Given the description of an element on the screen output the (x, y) to click on. 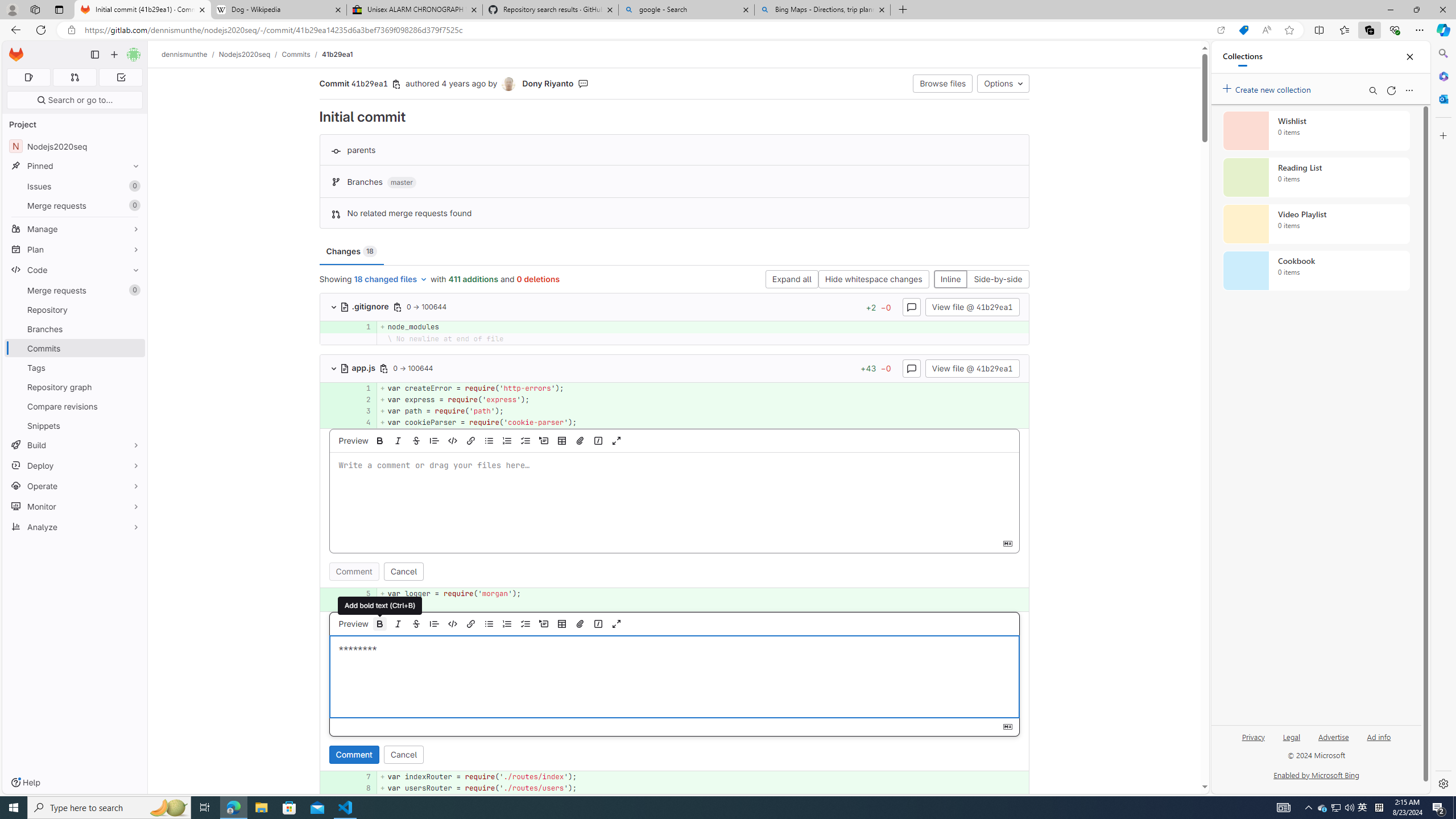
Tags (74, 367)
Analyze (74, 526)
8 (362, 788)
Primary navigation sidebar (94, 54)
+ var logger = require('morgan');  (703, 594)
Split screen (1318, 29)
Dony Riyanto (547, 83)
Close (1409, 56)
Add a collapsible section (543, 623)
Back (13, 29)
Pin Branches (132, 328)
Class: s16 (344, 368)
Reading List collection, 0 items (1316, 177)
+ var indexRouter = require('./routes/index');  (703, 776)
